Given the description of an element on the screen output the (x, y) to click on. 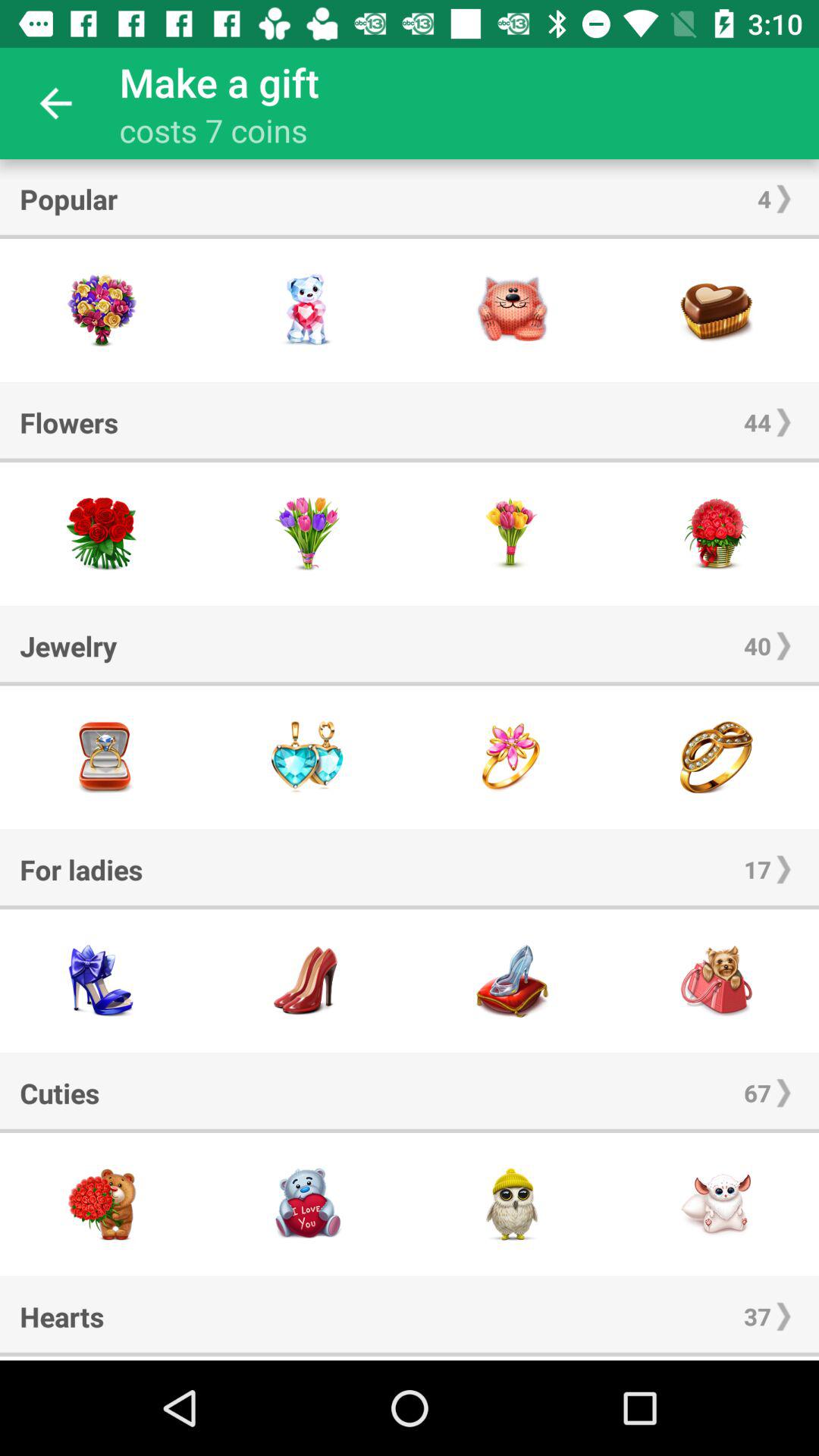
select cutie (306, 1204)
